Given the description of an element on the screen output the (x, y) to click on. 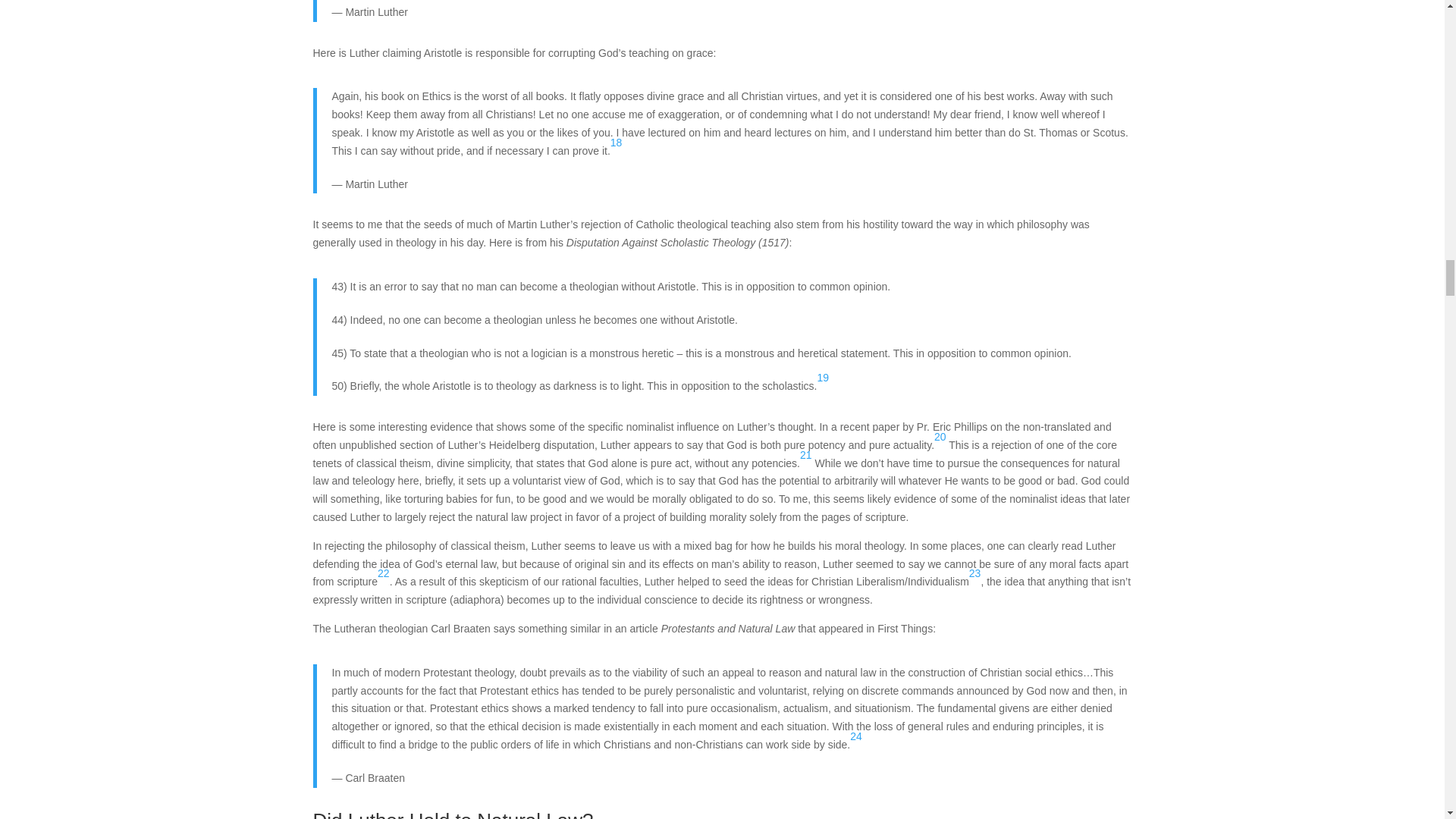
19 (822, 377)
22 (383, 573)
21 (805, 454)
24 (855, 736)
23 (975, 573)
18 (616, 142)
20 (940, 436)
